Given the description of an element on the screen output the (x, y) to click on. 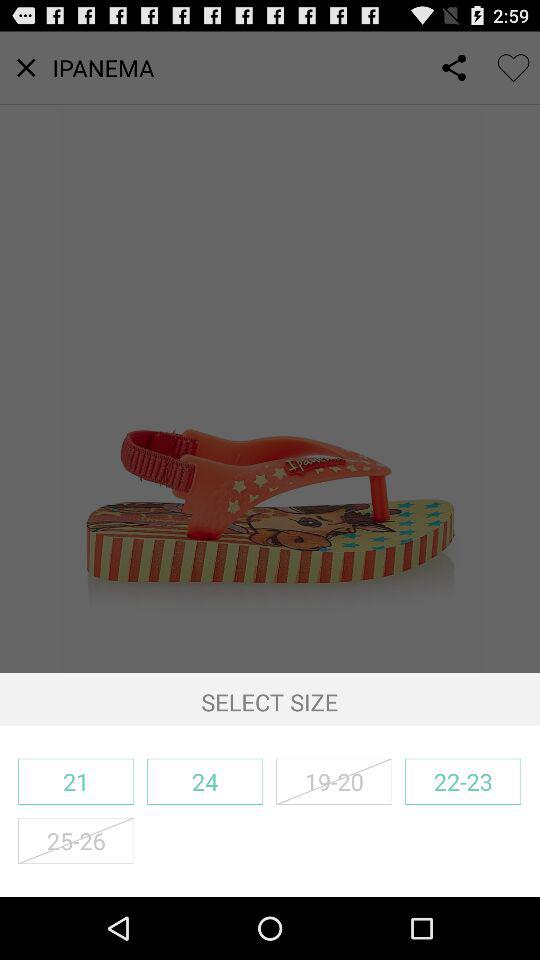
launch icon at the center (270, 352)
